Given the description of an element on the screen output the (x, y) to click on. 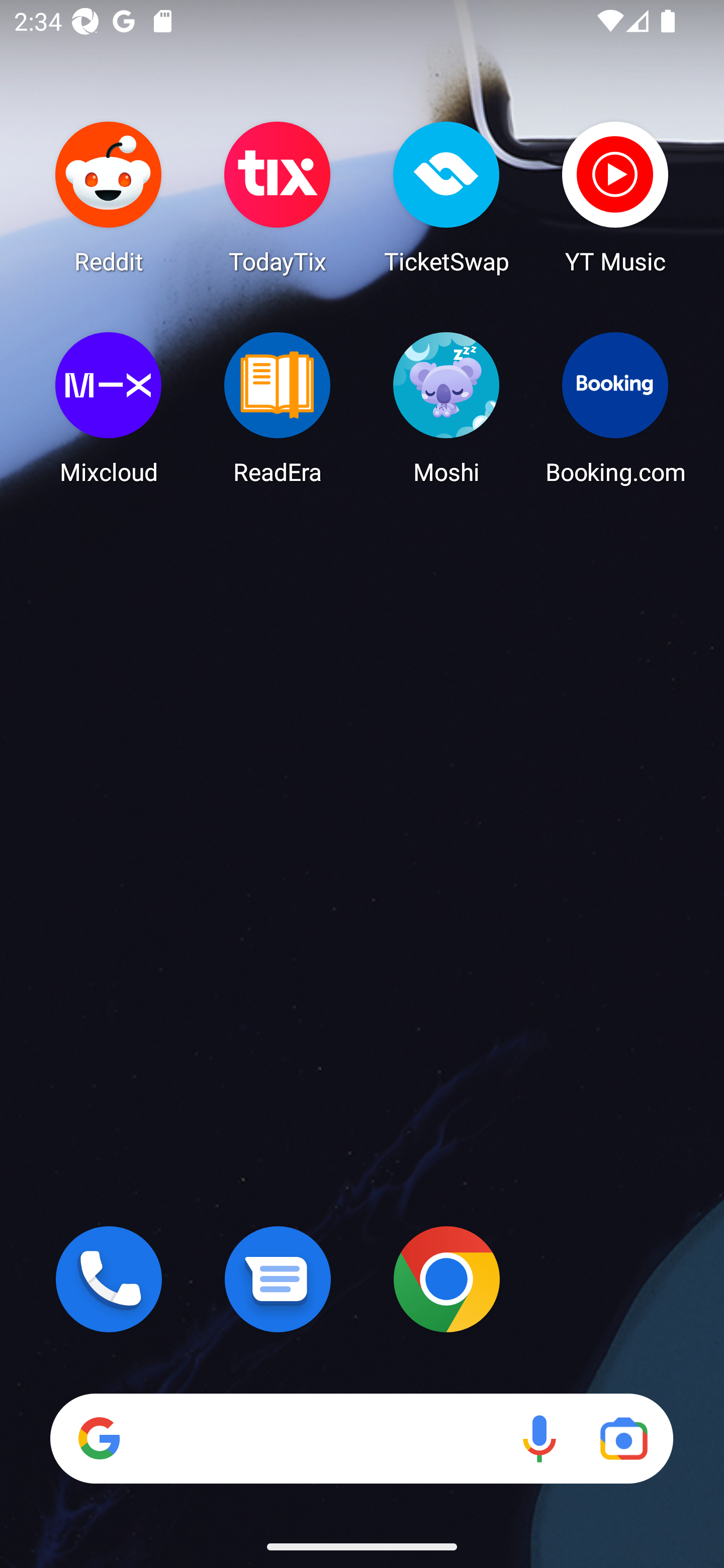
Reddit (108, 196)
TodayTix (277, 196)
TicketSwap (445, 196)
YT Music (615, 196)
Mixcloud (108, 407)
ReadEra (277, 407)
Moshi (445, 407)
Booking.com (615, 407)
Phone (108, 1279)
Messages (277, 1279)
Chrome (446, 1279)
Search Voice search Google Lens (361, 1438)
Voice search (539, 1438)
Google Lens (623, 1438)
